Given the description of an element on the screen output the (x, y) to click on. 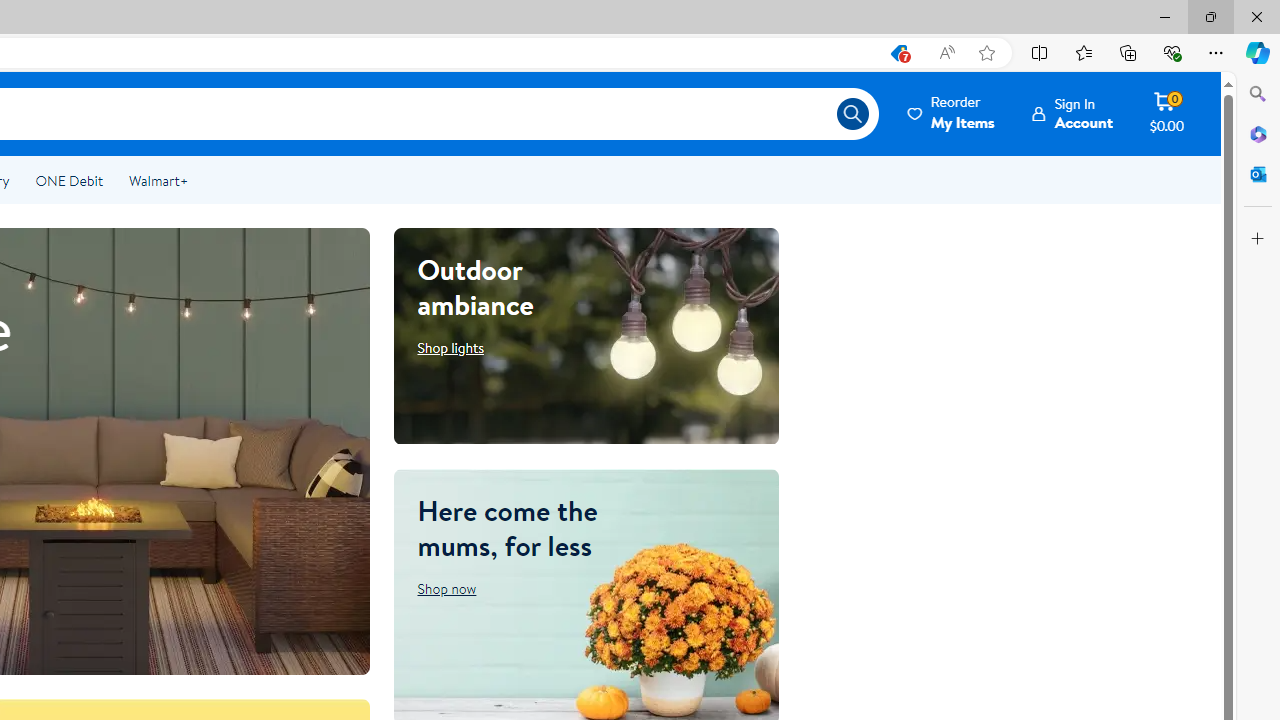
Shop now Here come the mums, for less (447, 588)
Walmart+ (158, 180)
Class: dn db-hdkp ml3 relative (952, 113)
Sign In Account (1072, 113)
